Given the description of an element on the screen output the (x, y) to click on. 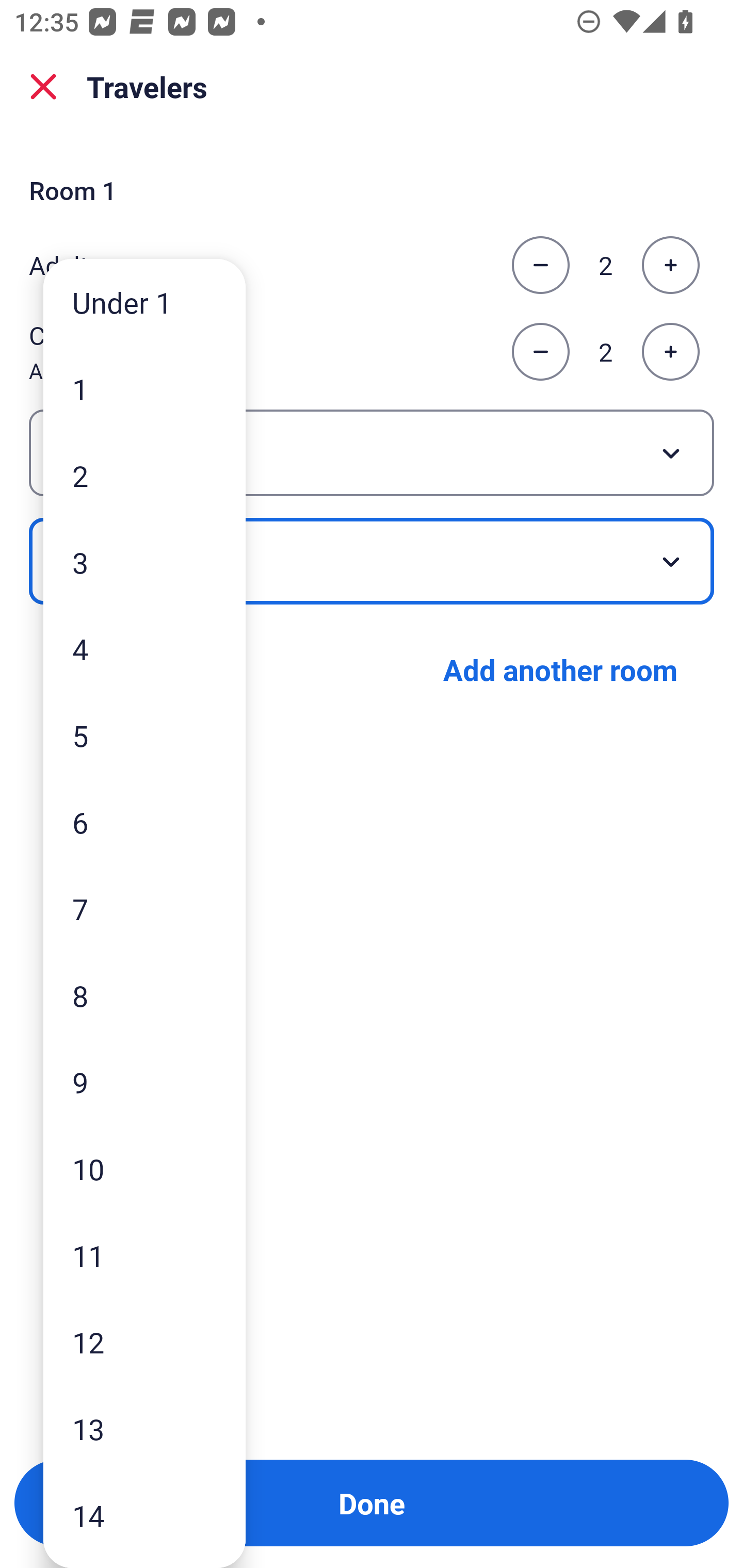
Under 1 (144, 301)
1 (144, 388)
2 (144, 475)
3 (144, 562)
4 (144, 648)
5 (144, 735)
6 (144, 822)
7 (144, 908)
8 (144, 994)
9 (144, 1081)
10 (144, 1168)
11 (144, 1255)
12 (144, 1342)
13 (144, 1429)
14 (144, 1515)
